Given the description of an element on the screen output the (x, y) to click on. 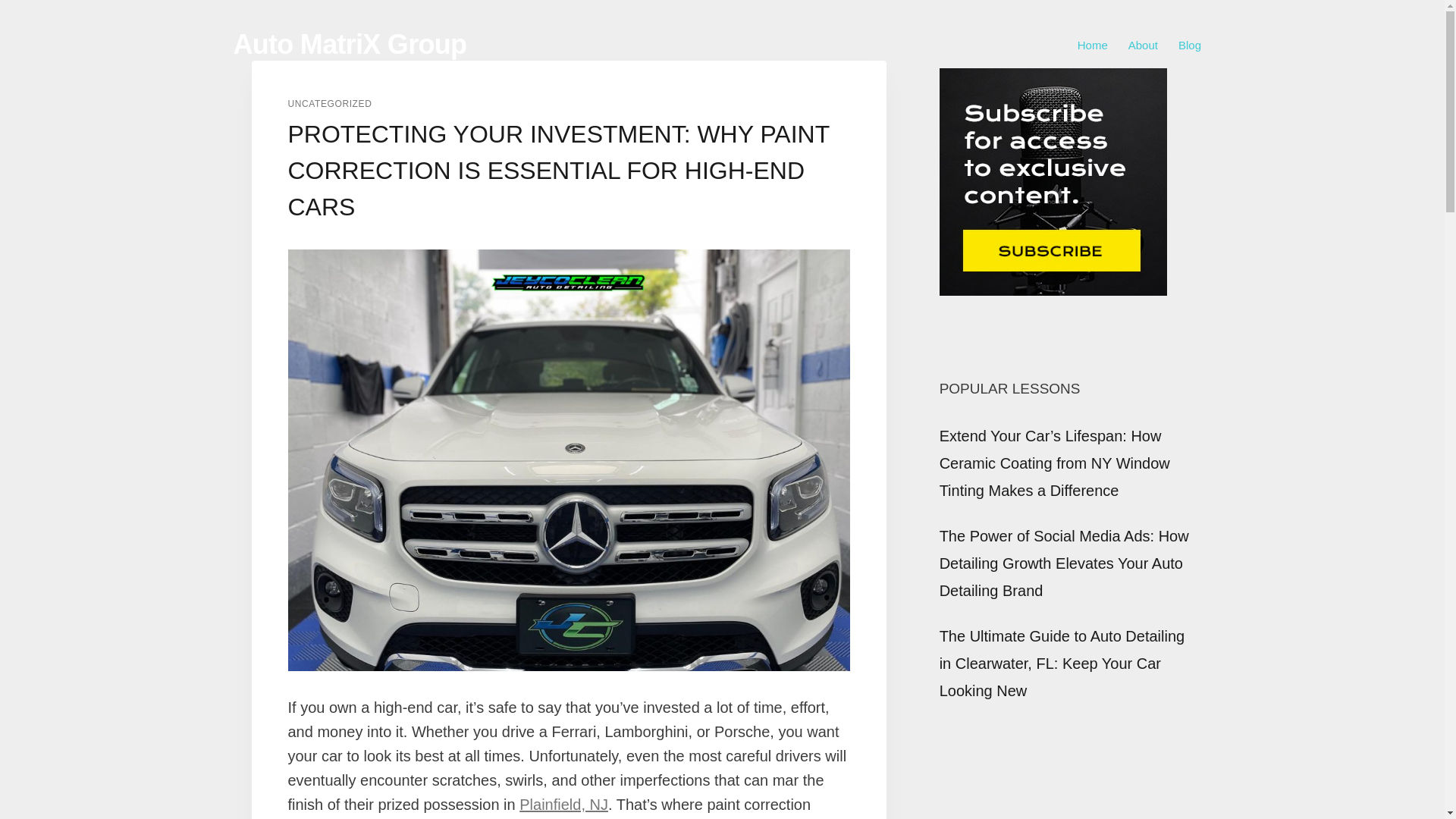
Home (1092, 44)
About (1142, 44)
Auto MatriX Group (349, 44)
Blog (1189, 44)
UNCATEGORIZED (330, 103)
Plainfield, NJ (563, 804)
